Given the description of an element on the screen output the (x, y) to click on. 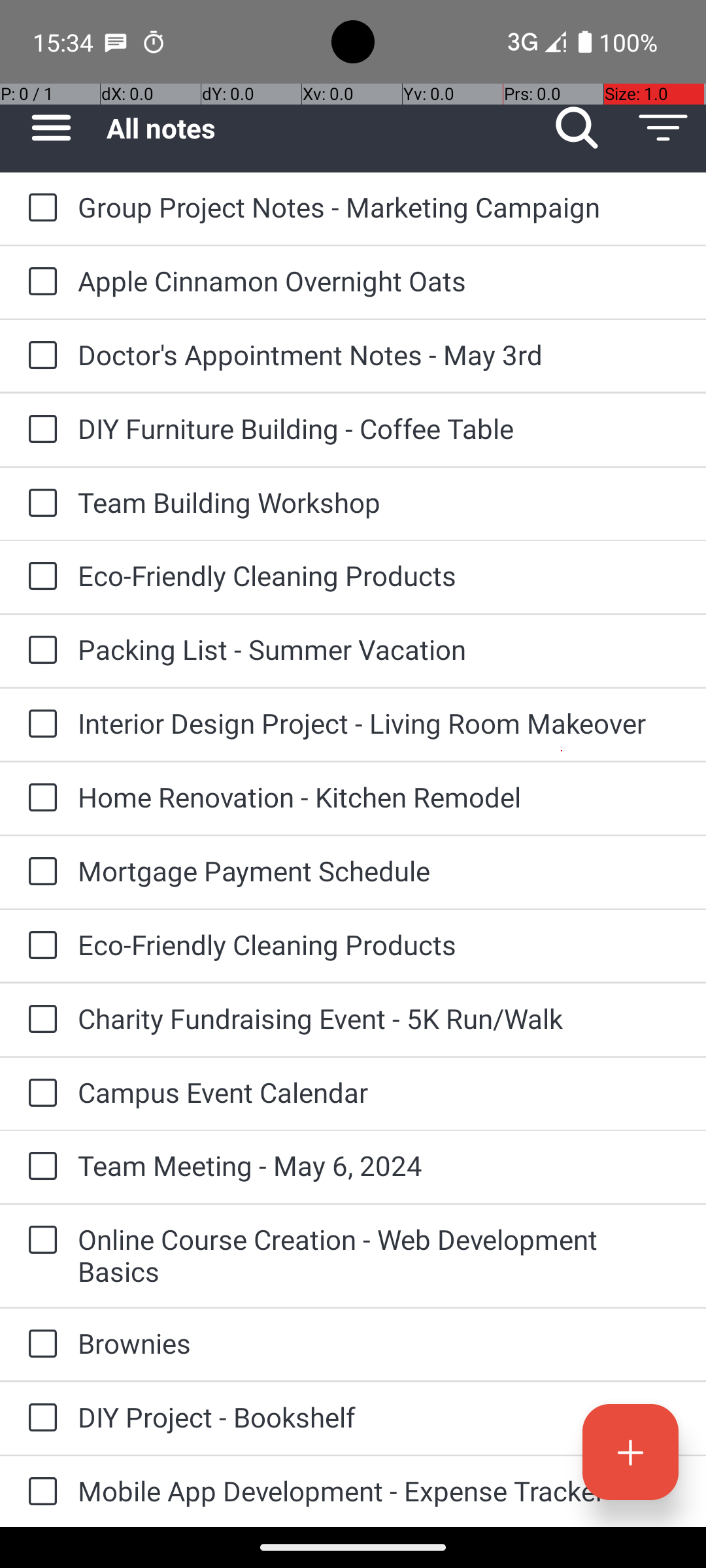
to-do: Group Project Notes - Marketing Campaign Element type: android.widget.CheckBox (38, 208)
Group Project Notes - Marketing Campaign Element type: android.widget.TextView (378, 206)
to-do: Apple Cinnamon Overnight Oats Element type: android.widget.CheckBox (38, 282)
Apple Cinnamon Overnight Oats Element type: android.widget.TextView (378, 280)
to-do: Doctor's Appointment Notes - May 3rd Element type: android.widget.CheckBox (38, 356)
Doctor's Appointment Notes - May 3rd Element type: android.widget.TextView (378, 354)
to-do: DIY Furniture Building - Coffee Table Element type: android.widget.CheckBox (38, 429)
DIY Furniture Building - Coffee Table Element type: android.widget.TextView (378, 427)
to-do: Team Building Workshop Element type: android.widget.CheckBox (38, 503)
Team Building Workshop Element type: android.widget.TextView (378, 501)
to-do: Eco-Friendly Cleaning Products Element type: android.widget.CheckBox (38, 576)
Eco-Friendly Cleaning Products Element type: android.widget.TextView (378, 574)
to-do: Packing List - Summer Vacation Element type: android.widget.CheckBox (38, 650)
Packing List - Summer Vacation Element type: android.widget.TextView (378, 648)
to-do: Interior Design Project - Living Room Makeover Element type: android.widget.CheckBox (38, 724)
Interior Design Project - Living Room Makeover Element type: android.widget.TextView (378, 722)
to-do: Home Renovation - Kitchen Remodel Element type: android.widget.CheckBox (38, 798)
Home Renovation - Kitchen Remodel Element type: android.widget.TextView (378, 796)
to-do: Mortgage Payment Schedule Element type: android.widget.CheckBox (38, 872)
Mortgage Payment Schedule Element type: android.widget.TextView (378, 870)
to-do: Charity Fundraising Event - 5K Run/Walk Element type: android.widget.CheckBox (38, 1019)
Charity Fundraising Event - 5K Run/Walk Element type: android.widget.TextView (378, 1017)
to-do: Campus Event Calendar Element type: android.widget.CheckBox (38, 1093)
Campus Event Calendar Element type: android.widget.TextView (378, 1091)
to-do: Team Meeting - May 6, 2024 Element type: android.widget.CheckBox (38, 1166)
Team Meeting - May 6, 2024 Element type: android.widget.TextView (378, 1164)
to-do: Online Course Creation - Web Development Basics Element type: android.widget.CheckBox (38, 1240)
Online Course Creation - Web Development Basics Element type: android.widget.TextView (378, 1254)
to-do: Brownies Element type: android.widget.CheckBox (38, 1344)
Brownies Element type: android.widget.TextView (378, 1342)
to-do: DIY Project - Bookshelf Element type: android.widget.CheckBox (38, 1418)
DIY Project - Bookshelf Element type: android.widget.TextView (378, 1416)
to-do: Mobile App Development - Expense Tracker Element type: android.widget.CheckBox (38, 1491)
Mobile App Development - Expense Tracker Element type: android.widget.TextView (378, 1490)
